Given the description of an element on the screen output the (x, y) to click on. 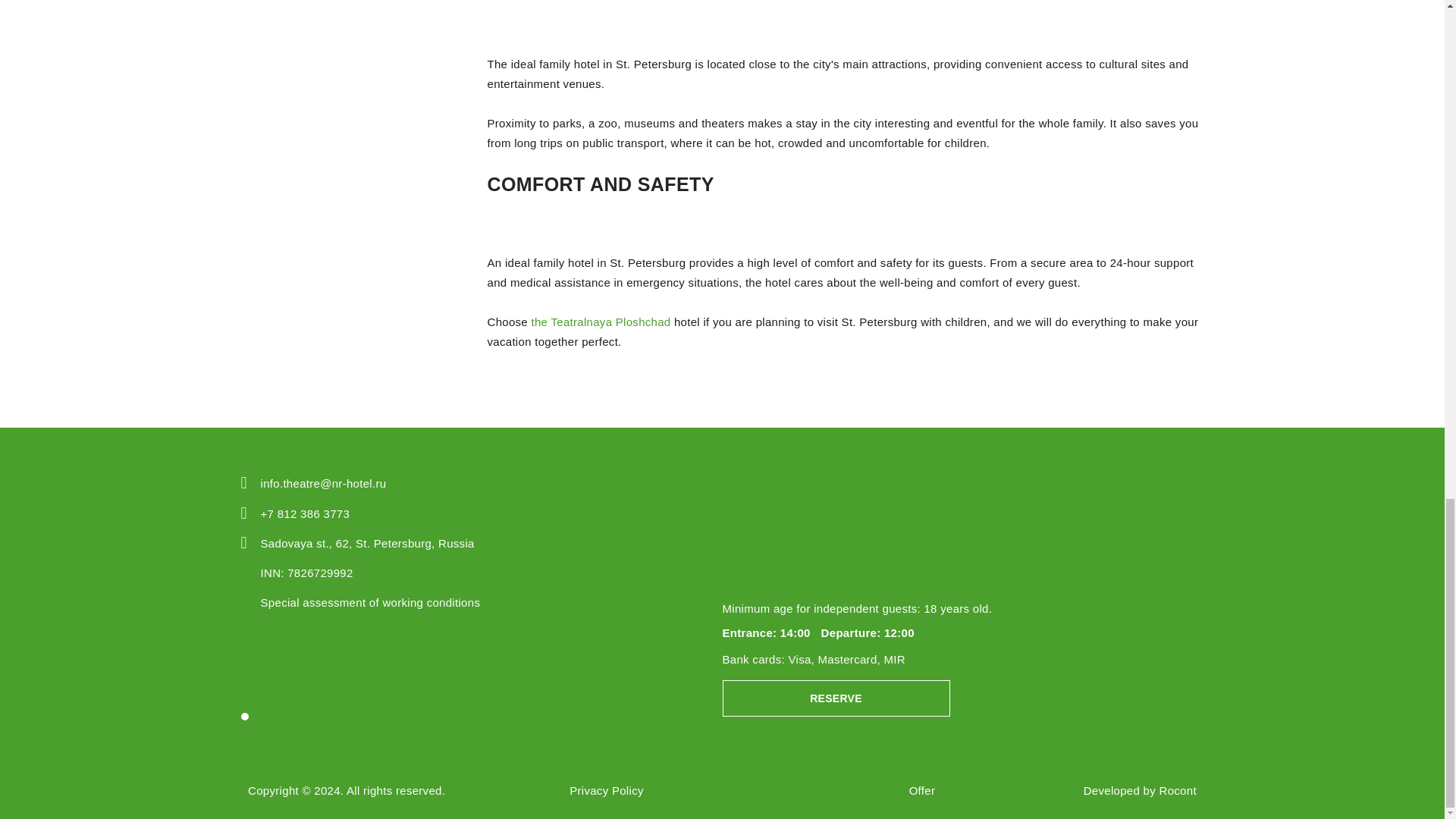
RESERVE (835, 698)
Special assessment of working conditions (370, 602)
the Teatralnaya Ploshchad (600, 321)
